Given the description of an element on the screen output the (x, y) to click on. 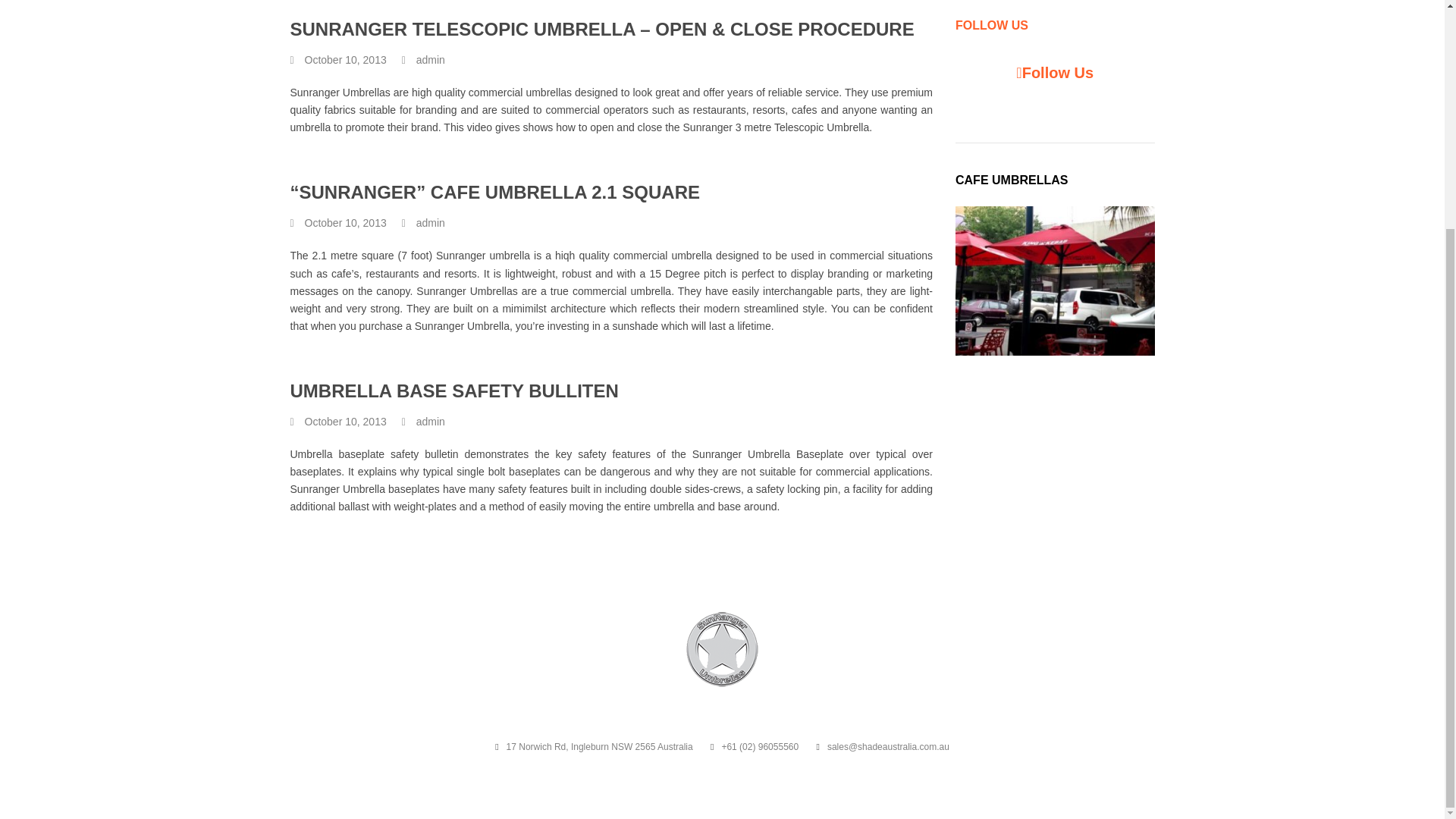
UMBRELLA BASE SAFETY BULLITEN (453, 390)
Follow Us (1057, 72)
admin (430, 59)
October 10, 2013 (345, 421)
admin (430, 421)
October 10, 2013 (345, 222)
FOLLOW US (991, 24)
October 10, 2013 (345, 59)
admin (430, 222)
